Given the description of an element on the screen output the (x, y) to click on. 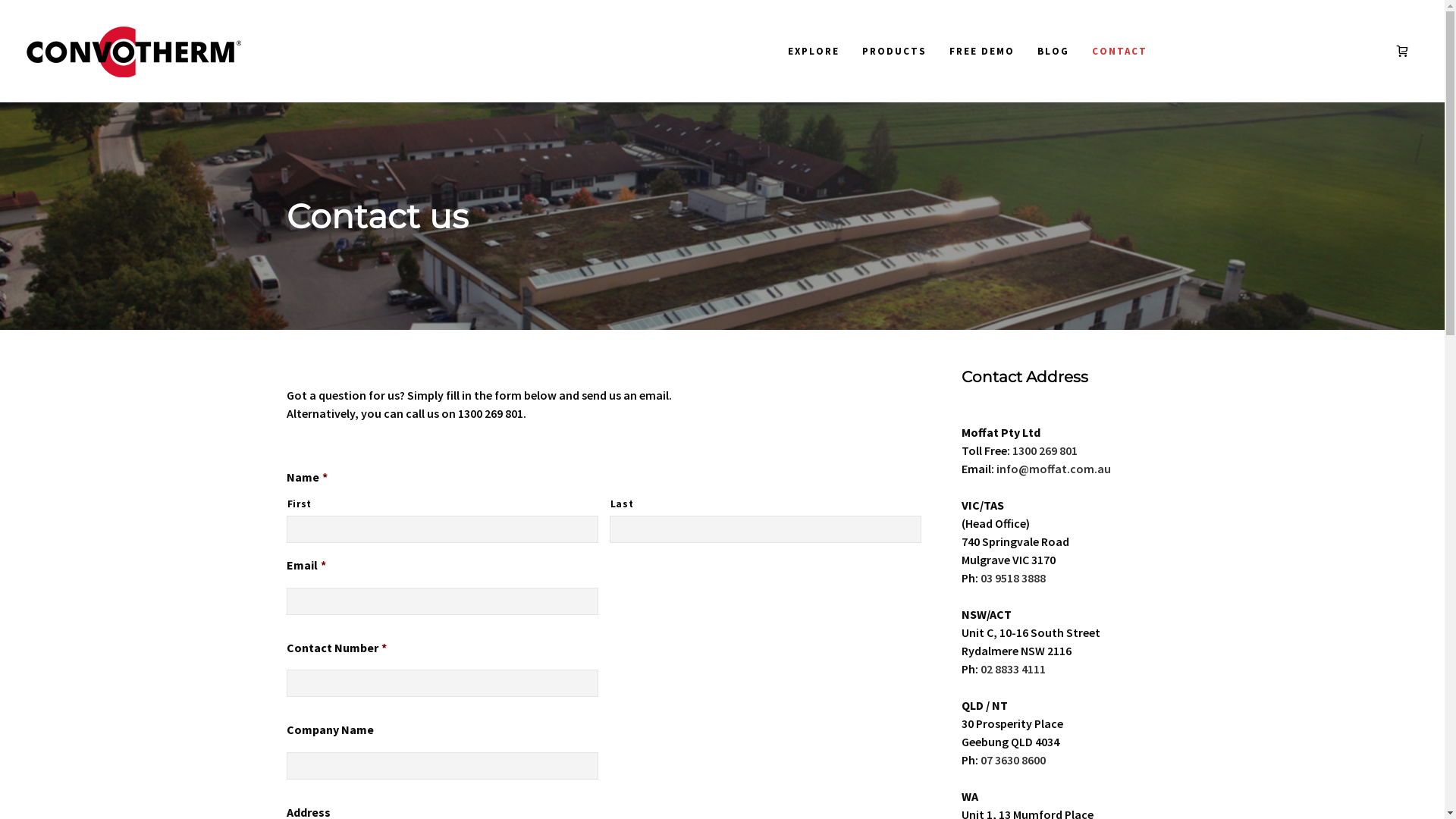
View your Quote Element type: hover (1405, 51)
CONTACT Element type: text (1118, 51)
EXPLORE Element type: text (813, 51)
02 8833 4111 Element type: text (1011, 668)
07 3630 8600 Element type: text (1011, 759)
PRODUCTS Element type: text (894, 51)
BLOG Element type: text (1052, 51)
info@moffat.com.au Element type: text (1053, 468)
03 9518 3888 Element type: text (1011, 577)
1300 269 801 Element type: text (1043, 450)
FREE DEMO Element type: text (981, 51)
